Given the description of an element on the screen output the (x, y) to click on. 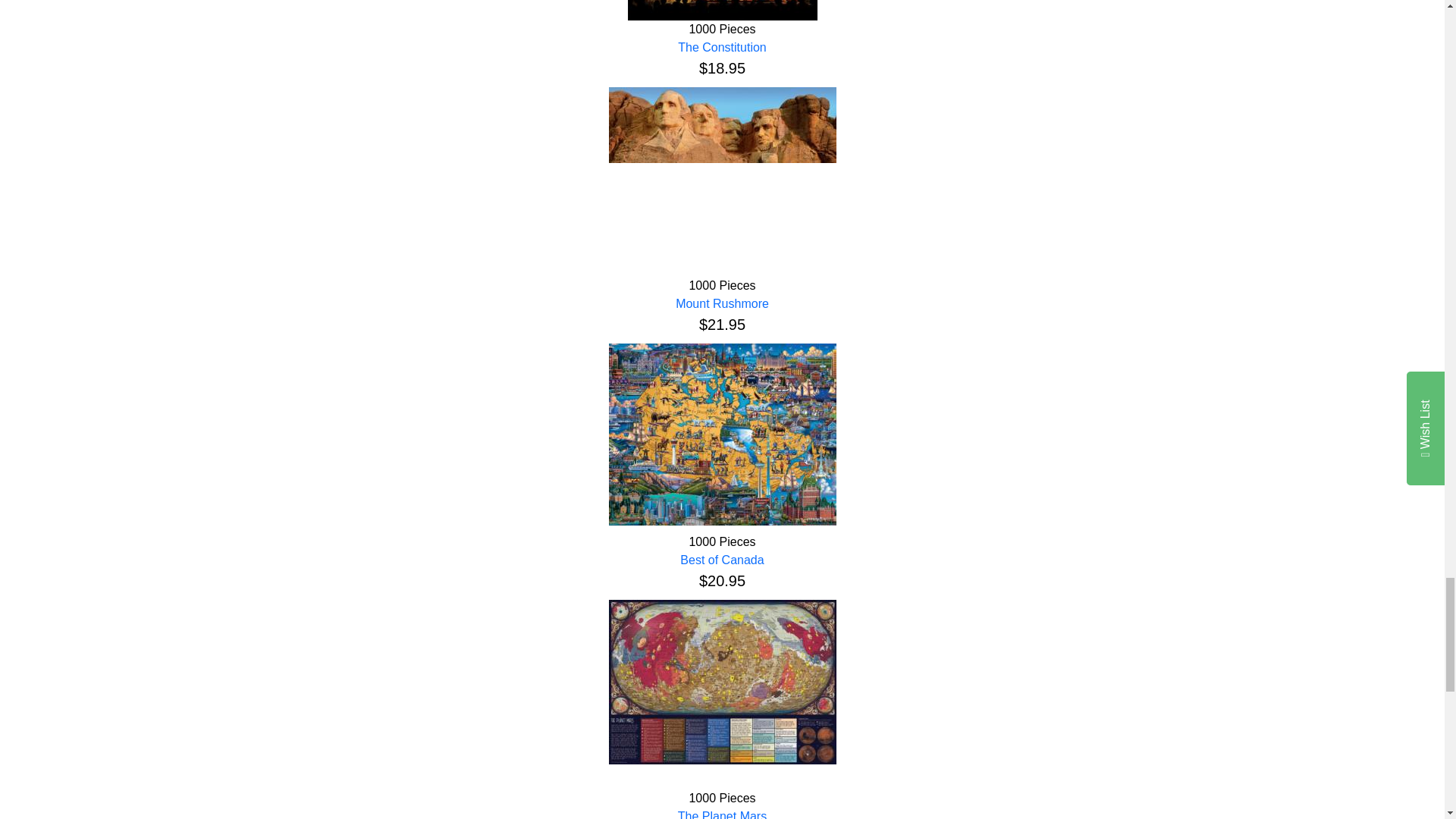
Best of Canada Folk Art Jigsaw Puzzle By Dowdle Folk Art (721, 434)
The Constitution Military Jigsaw Puzzle By SunsOut (721, 10)
